Given the description of an element on the screen output the (x, y) to click on. 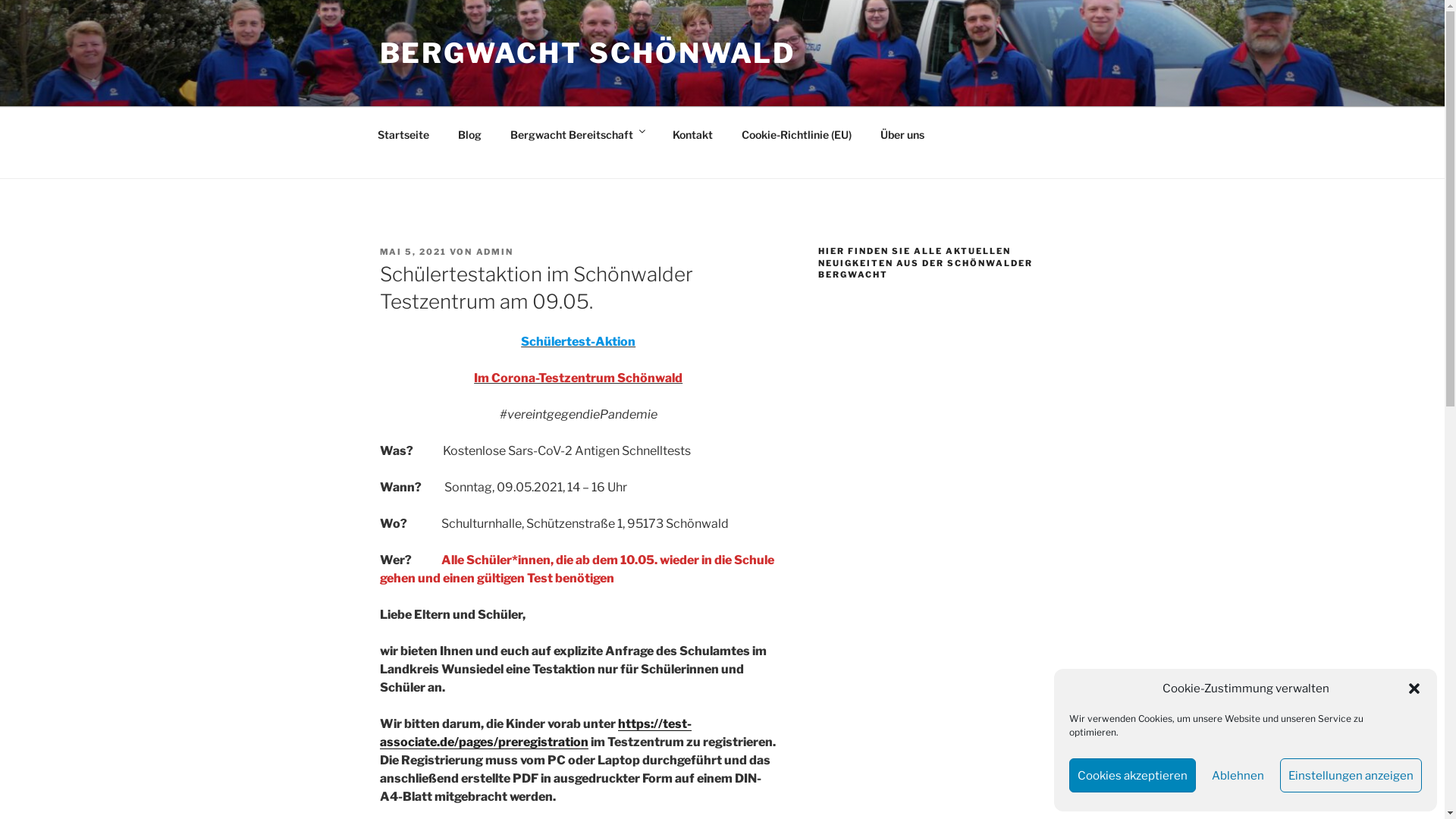
Blog Element type: text (469, 133)
https://test-associate.de/pages/preregistration Element type: text (534, 732)
Startseite Element type: text (403, 133)
Ablehnen Element type: text (1237, 775)
Einstellungen anzeigen Element type: text (1350, 775)
Kontakt Element type: text (692, 133)
Bergwacht Bereitschaft Element type: text (577, 134)
Cookies akzeptieren Element type: text (1132, 775)
ADMIN Element type: text (495, 251)
Cookie-Richtlinie (EU) Element type: text (796, 133)
MAI 5, 2021 Element type: text (412, 251)
